Given the description of an element on the screen output the (x, y) to click on. 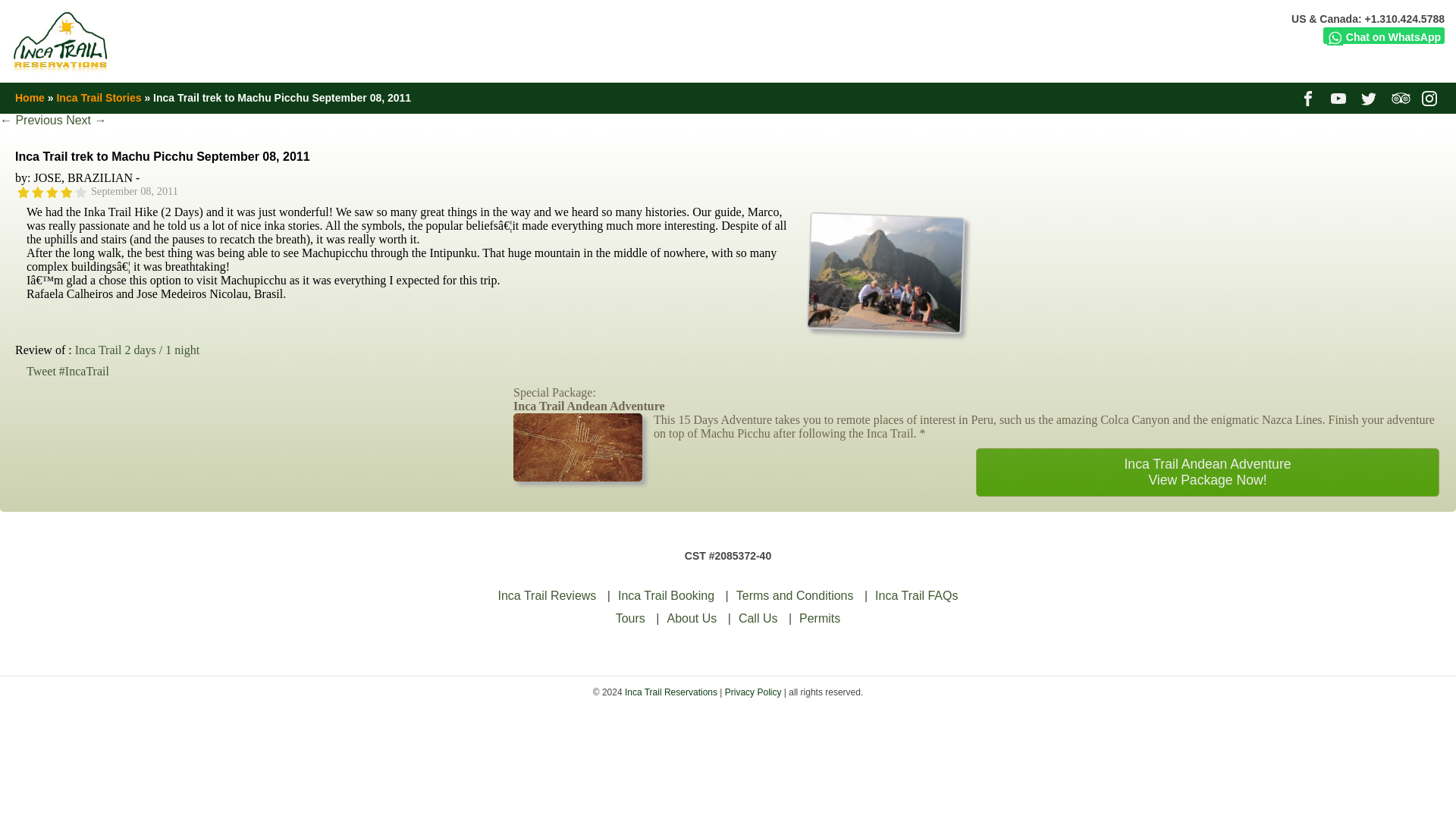
facebook (1309, 97)
Privacy Policy (753, 692)
About Us (691, 617)
Tours (630, 617)
Machu Picchu Inca Trail Sep 08 2011-1 (883, 323)
Inca Trail Reservations (670, 692)
Permits (819, 617)
youtube (1339, 97)
Chat on WhatsApp (1383, 35)
Inca Trail Reviews (546, 594)
Call Us (757, 617)
Inca Trail Booking (665, 594)
twitter (1370, 97)
Inca Trail Stories (98, 97)
tripadvisor (1400, 97)
